Given the description of an element on the screen output the (x, y) to click on. 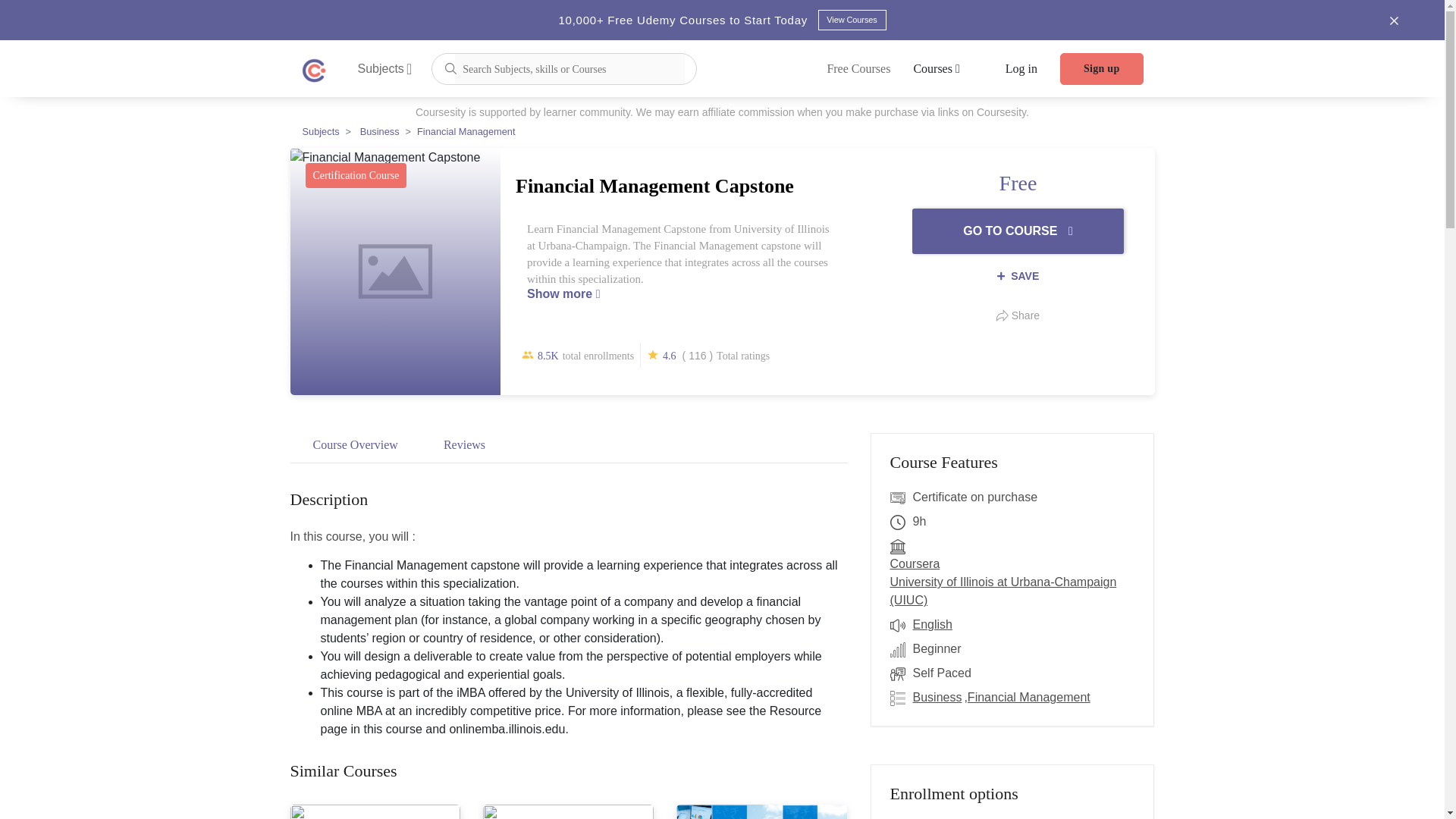
View Courses (850, 19)
Certification (900, 497)
Level (900, 648)
Submit the search query. (450, 67)
Duration (900, 521)
Type (900, 673)
Topics (900, 697)
Offered by (900, 546)
Audio (900, 624)
Subjects (384, 68)
